Given the description of an element on the screen output the (x, y) to click on. 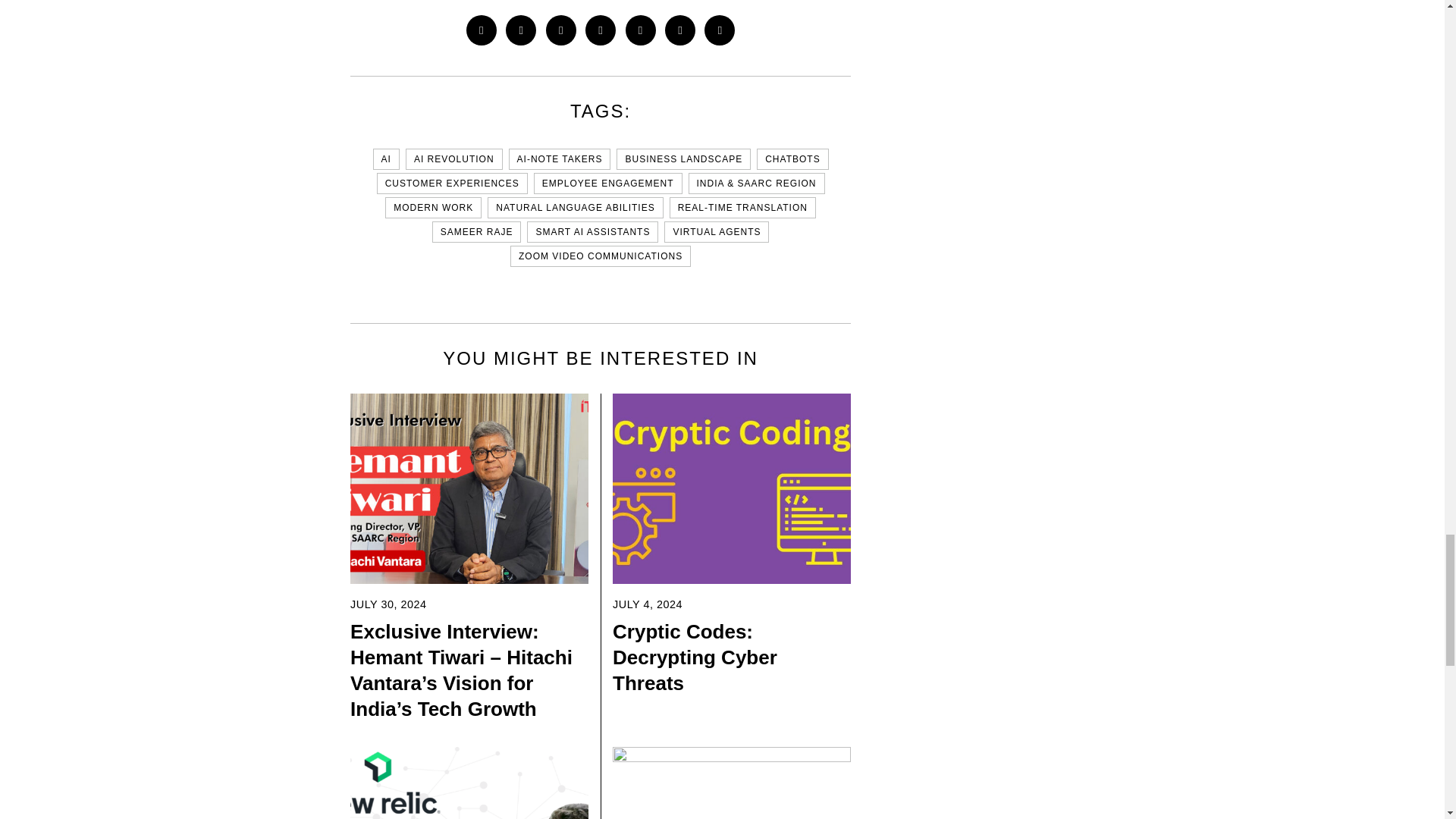
Email (719, 30)
Twitter (520, 30)
Facebook (480, 30)
Reddit (680, 30)
Pinterest (561, 30)
Linkedin (600, 30)
Whatsapp (641, 30)
